Given the description of an element on the screen output the (x, y) to click on. 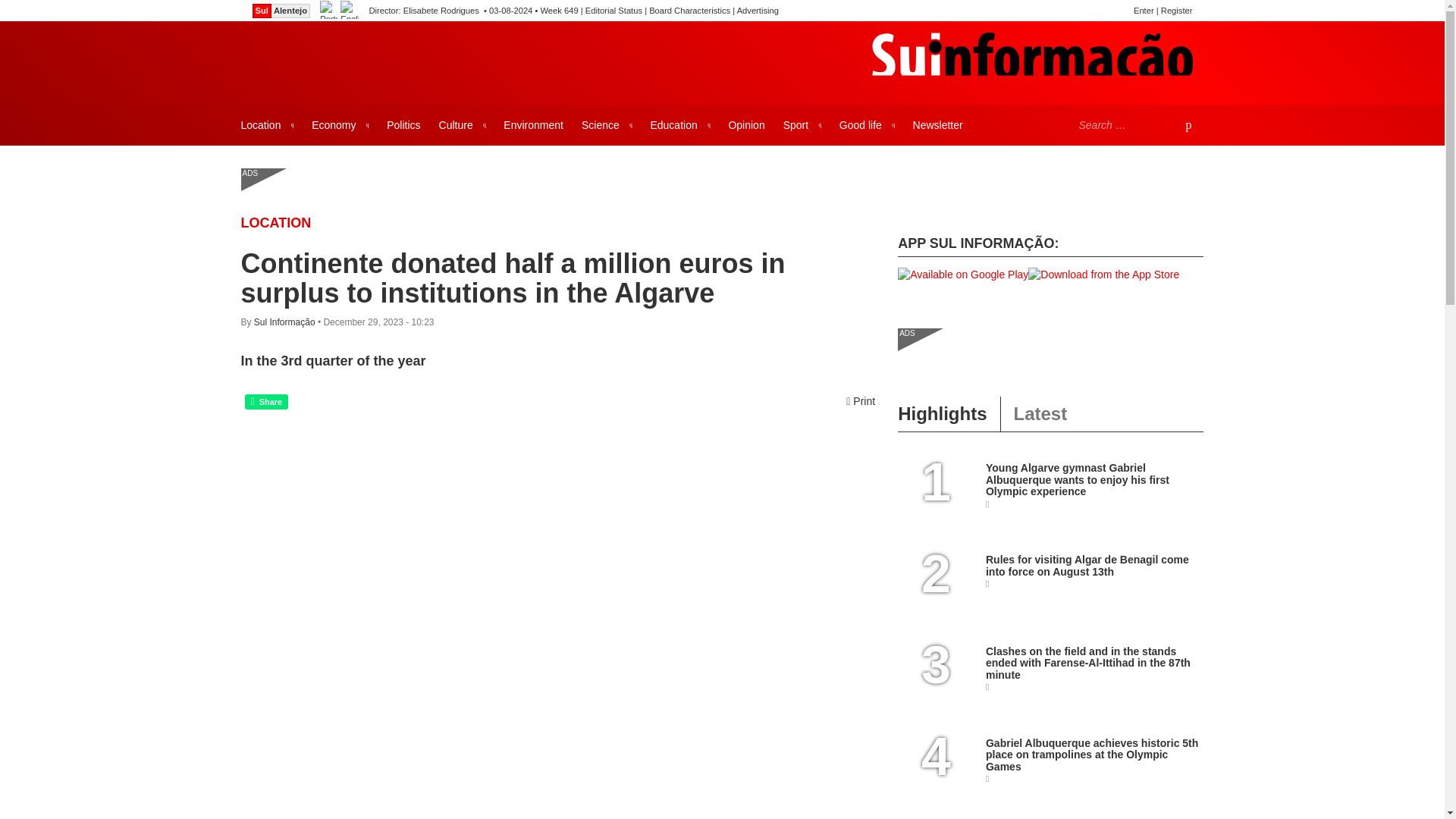
Advertising (757, 10)
Board Characteristics (689, 10)
Editorial Status (613, 10)
Portuguese (328, 10)
Location (276, 222)
Share on Whatsapp (266, 401)
English (349, 10)
Register (1176, 10)
Enter (1144, 10)
Location (266, 124)
